Given the description of an element on the screen output the (x, y) to click on. 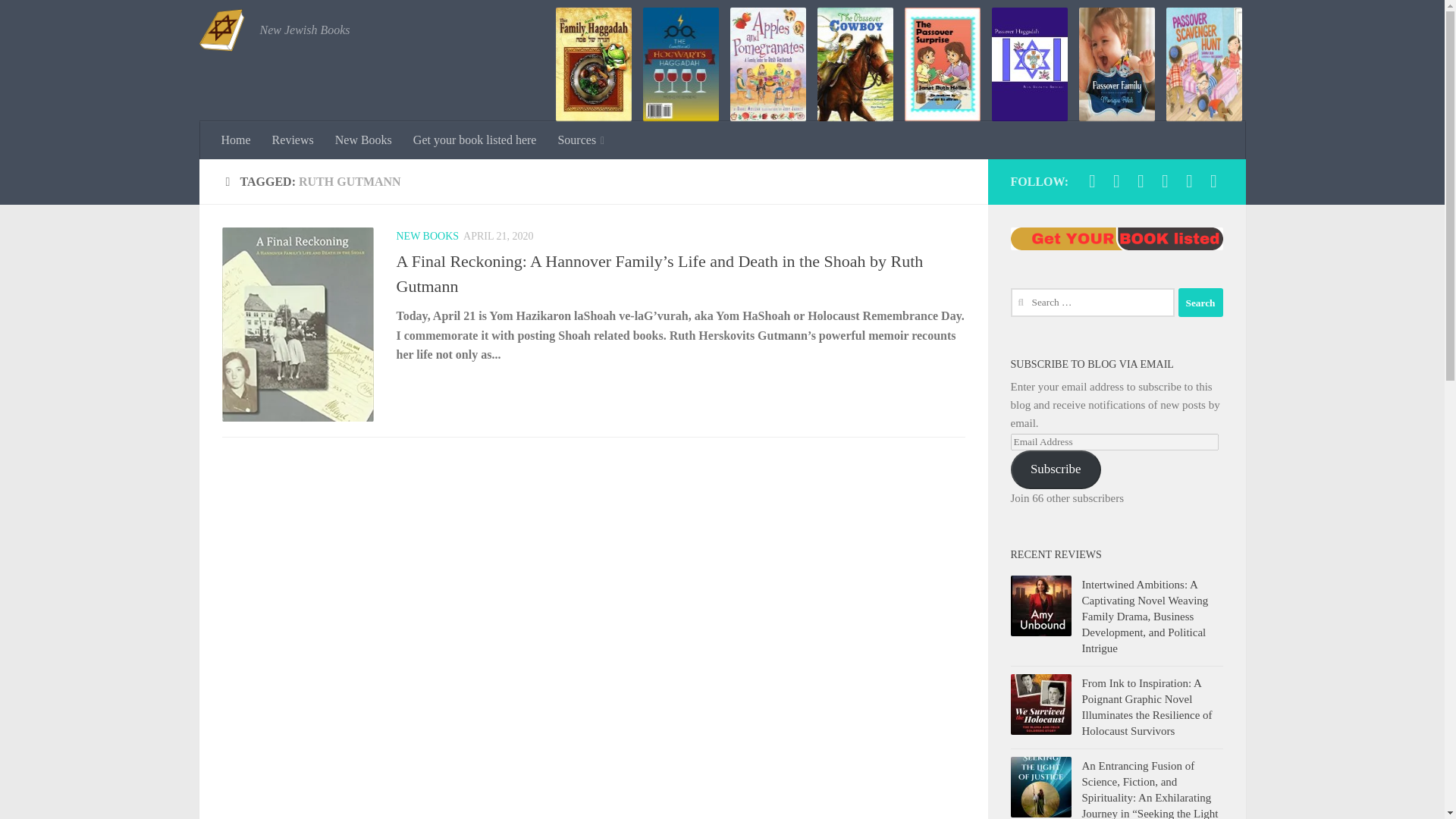
Search (1200, 302)
NEW BOOKS (427, 235)
Follow us on Tumblr (1188, 180)
Search (1200, 302)
Sources (580, 139)
Follow us on Twitter (1164, 180)
Follow us on Facebook (1140, 180)
Follow us on Linkedin (1115, 180)
Reviews (293, 139)
Subscribe (1055, 469)
Get your book listed here (475, 139)
Home (236, 139)
New Books (363, 139)
Follow us on Rss (1213, 180)
